Given the description of an element on the screen output the (x, y) to click on. 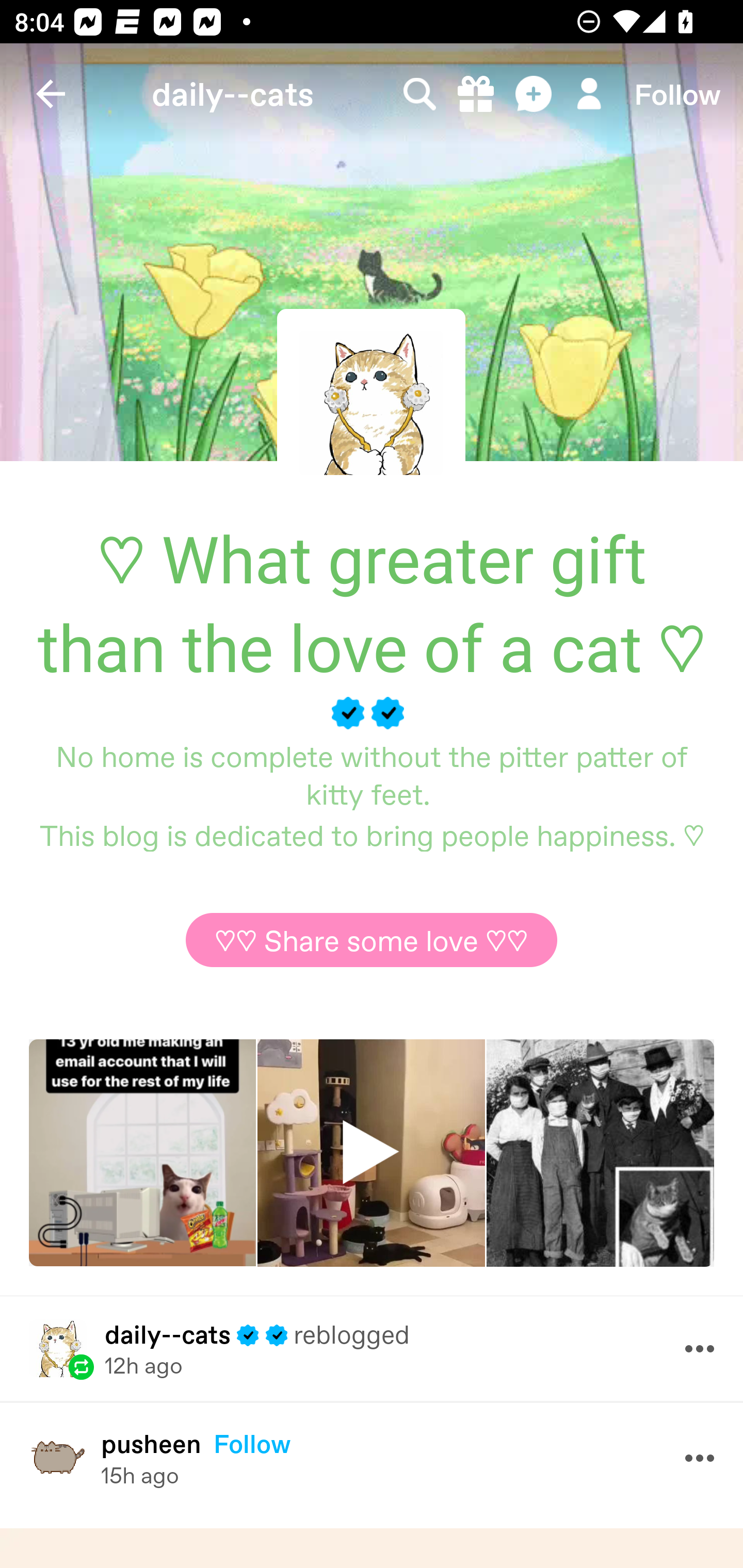
Navigate up (50, 93)
Messages (535, 93)
Follow (677, 93)
Avatar frame (371, 402)
♡♡ Share some love ♡♡ (371, 939)
